Given the description of an element on the screen output the (x, y) to click on. 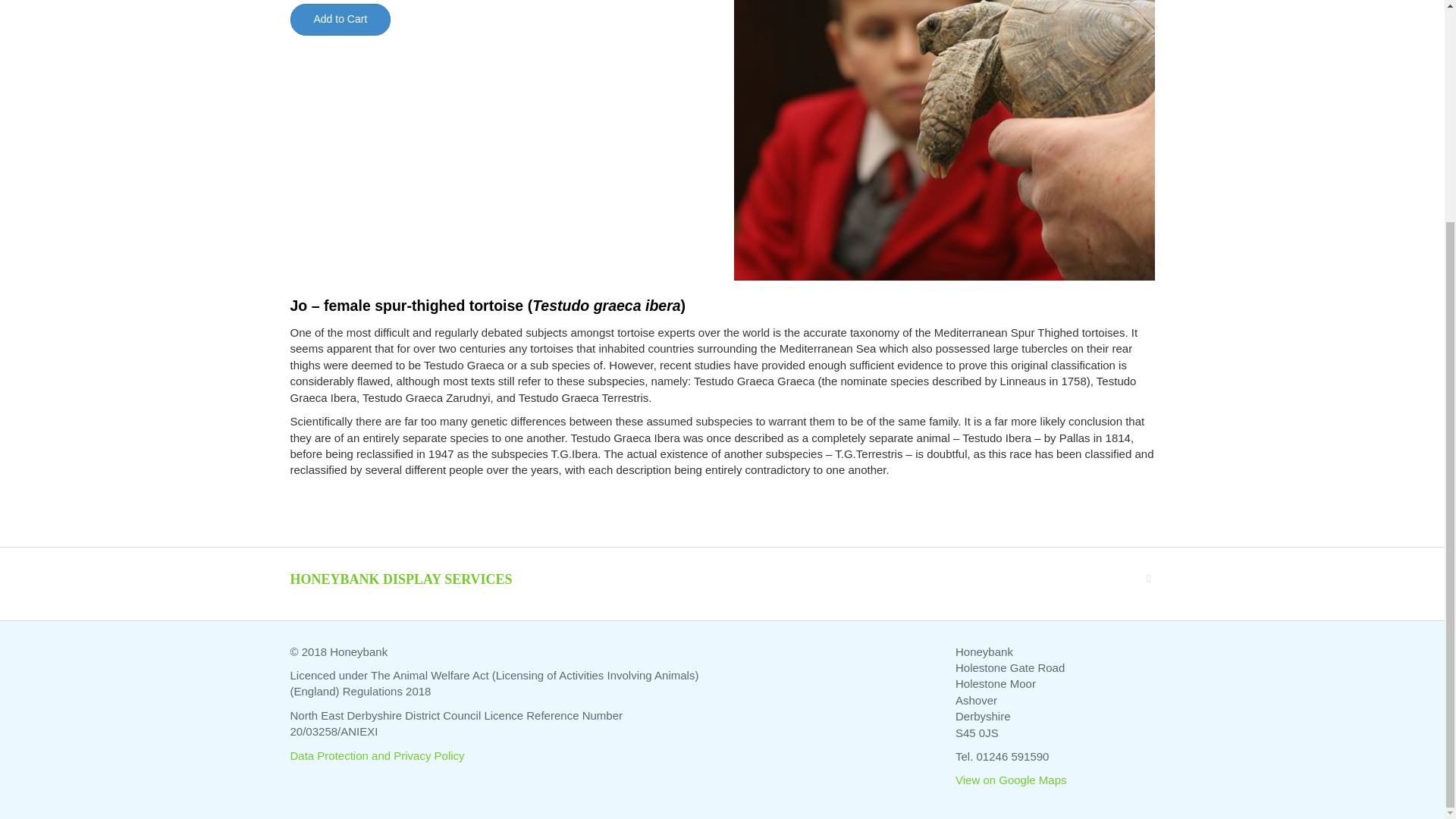
View on Google Maps (1010, 779)
Data Protection and Privacy Policy (376, 755)
Jo.jpg (943, 140)
HONEYBANK DISPLAY SERVICES (400, 579)
Add to Cart (339, 20)
